Given the description of an element on the screen output the (x, y) to click on. 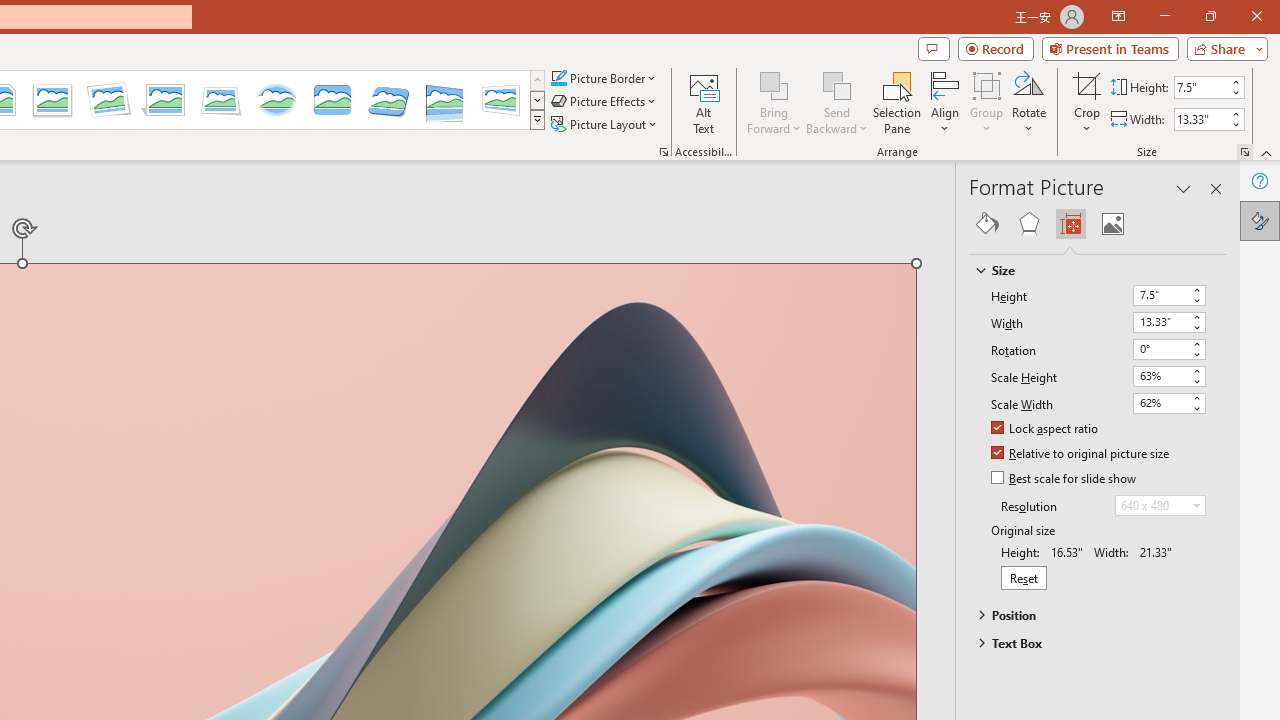
Rotate (1028, 102)
Lock aspect ratio (1046, 429)
Class: NetUIGalleryContainer (1098, 223)
Scale Height (1168, 376)
Selection Pane... (897, 102)
Bevel Perspective (388, 100)
Close (1256, 16)
Reflected Perspective Right (445, 100)
Rotation (1168, 349)
Position (1088, 615)
Moderate Frame, White (52, 100)
More (1235, 113)
Width (1160, 322)
